Given the description of an element on the screen output the (x, y) to click on. 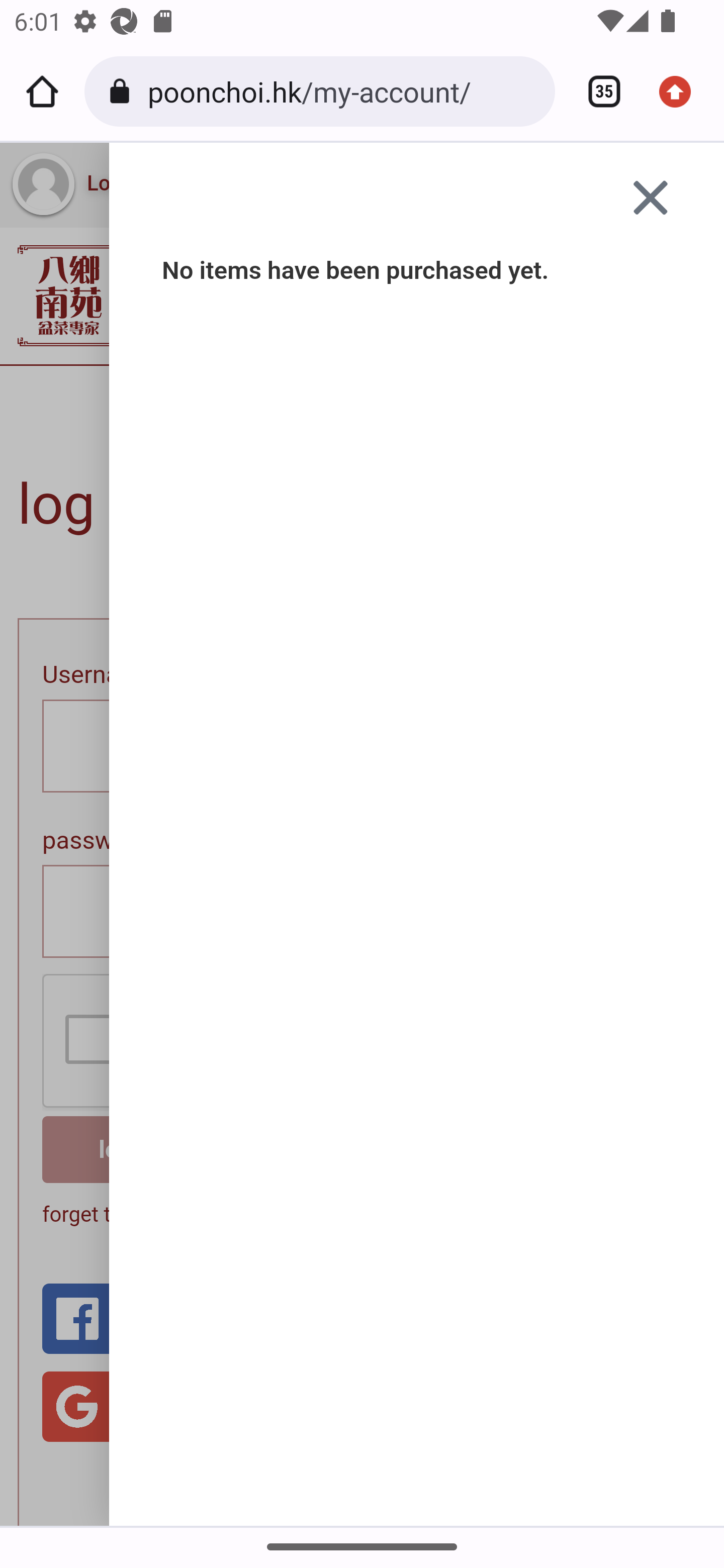
Home (42, 91)
Connection is secure (122, 91)
Switch or close tabs (597, 91)
Update available. More options (681, 91)
poonchoi.hk/my-account/ (343, 90)
